Given the description of an element on the screen output the (x, y) to click on. 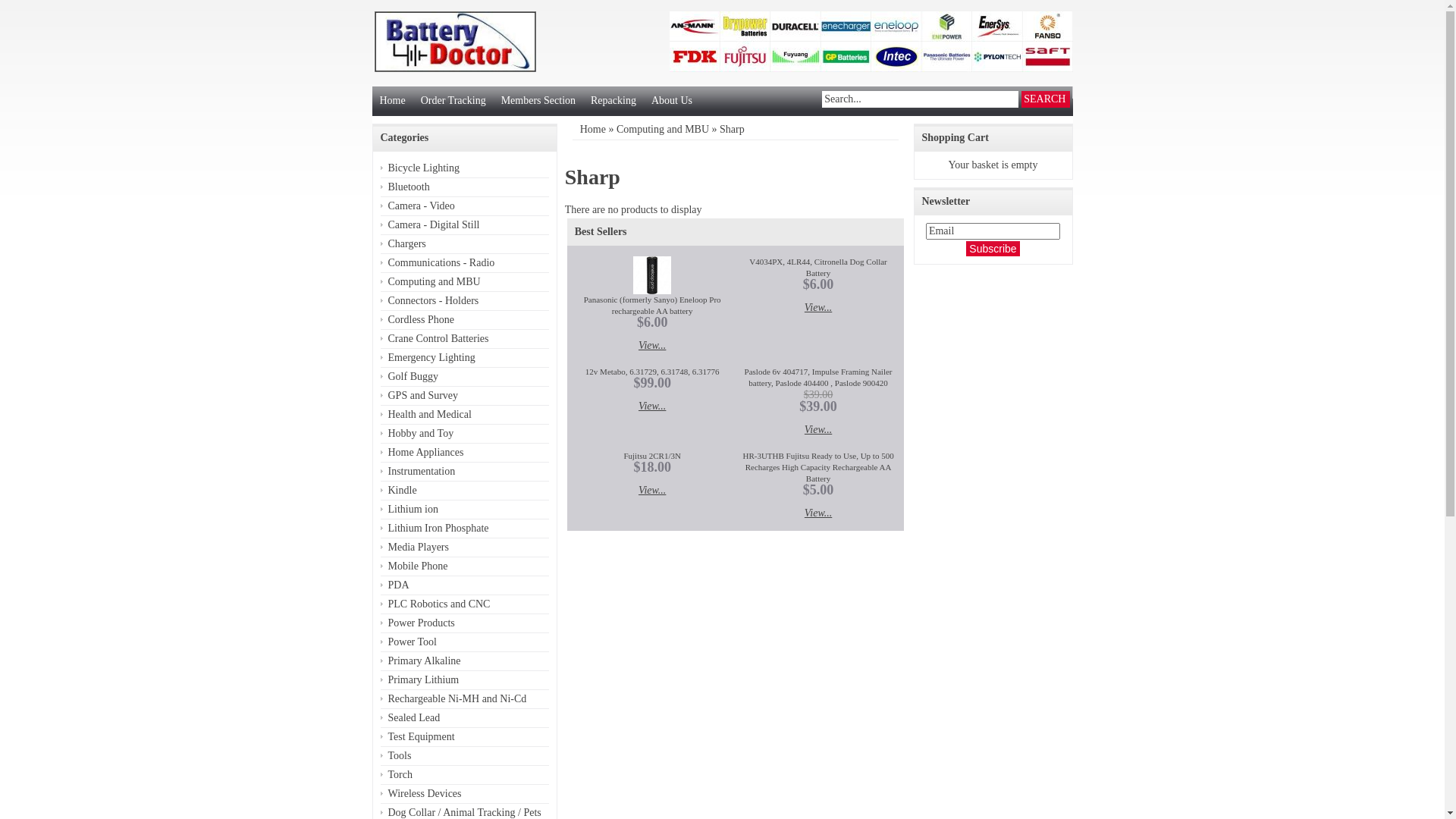
Camera - Video Element type: text (464, 206)
Test Equipment Element type: text (464, 737)
Camera - Digital Still Element type: text (464, 225)
View... Element type: text (817, 429)
Repacking Element type: text (613, 101)
Cordless Phone Element type: text (464, 319)
Wireless Devices Element type: text (464, 793)
Computing and MBU Element type: text (464, 282)
PDA Element type: text (464, 585)
Emergency Lighting Element type: text (464, 357)
Lithium ion Element type: text (464, 509)
About Us Element type: text (671, 101)
12v Metabo, 6.31729, 6.31748, 6.31776 Element type: text (652, 371)
Bluetooth Element type: text (464, 187)
Connectors - Holders Element type: text (464, 300)
Order Tracking Element type: text (453, 101)
Lithium Iron Phosphate Element type: text (464, 528)
View... Element type: text (651, 345)
Media Players Element type: text (464, 547)
Power Tool Element type: text (464, 642)
Communications - Radio Element type: text (464, 263)
Torch Element type: text (464, 774)
Power Products Element type: text (464, 623)
Kindle Element type: text (464, 490)
Primary Alkaline Element type: text (464, 661)
View... Element type: text (817, 512)
Members Section Element type: text (538, 101)
Crane Control Batteries Element type: text (464, 338)
View... Element type: text (651, 489)
Tools Element type: text (464, 755)
View... Element type: text (817, 307)
SEARCH Element type: text (1045, 99)
Golf Buggy Element type: text (464, 376)
Hobby and Toy Element type: text (464, 433)
Rechargeable Ni-MH and Ni-Cd Element type: text (464, 699)
Instrumentation Element type: text (464, 471)
Home Element type: text (592, 128)
Chargers Element type: text (464, 244)
Computing and MBU Element type: text (662, 128)
View... Element type: text (651, 405)
PLC Robotics and CNC Element type: text (464, 604)
Bicycle Lighting Element type: text (464, 168)
GPS and Survey Element type: text (464, 395)
Health and Medical Element type: text (464, 414)
Mobile Phone Element type: text (464, 566)
Primary Lithium Element type: text (464, 680)
Home Appliances Element type: text (464, 452)
V4034PX, 4LR44, Citronella Dog Collar Battery Element type: text (818, 267)
Home Element type: text (391, 101)
Fujitsu 2CR1/3N Element type: text (651, 455)
Sealed Lead Element type: text (464, 718)
